Given the description of an element on the screen output the (x, y) to click on. 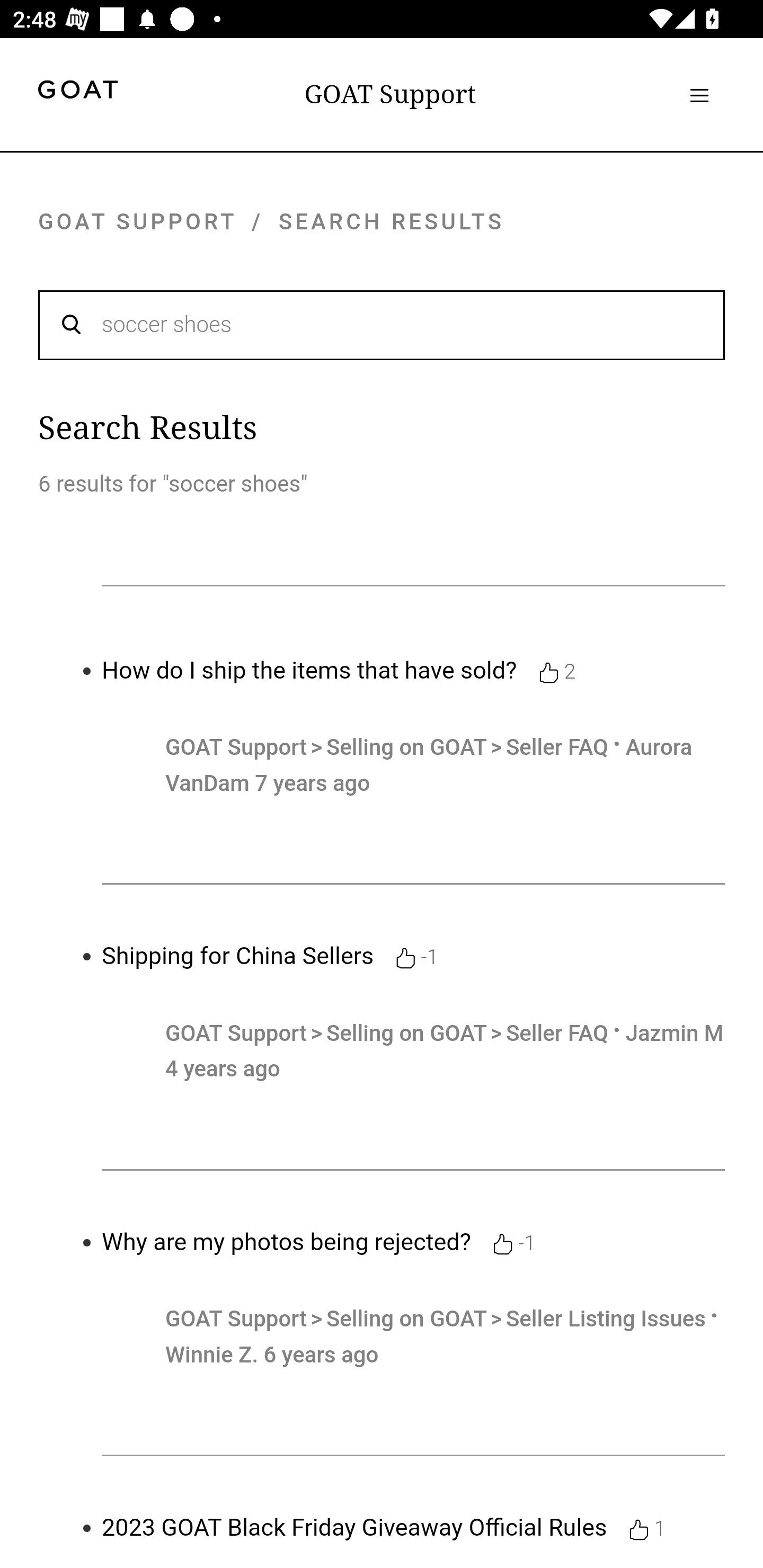
goat header logo (77, 92)
Toggle navigation menu (698, 94)
GOAT Support (389, 94)
GOAT SUPPORT (137, 221)
How do I ship the items that have sold? (309, 670)
GOAT Support (236, 746)
Selling on GOAT  (408, 746)
Seller FAQ (556, 746)
Shipping for China Sellers (238, 955)
GOAT Support (236, 1033)
Selling on GOAT  (408, 1033)
Seller FAQ (556, 1033)
Why are my photos being rejected? (286, 1241)
GOAT Support (236, 1319)
Selling on GOAT  (408, 1319)
Seller Listing Issues (605, 1319)
2023 GOAT Black Friday Giveaway Official Rules (354, 1527)
